Given the description of an element on the screen output the (x, y) to click on. 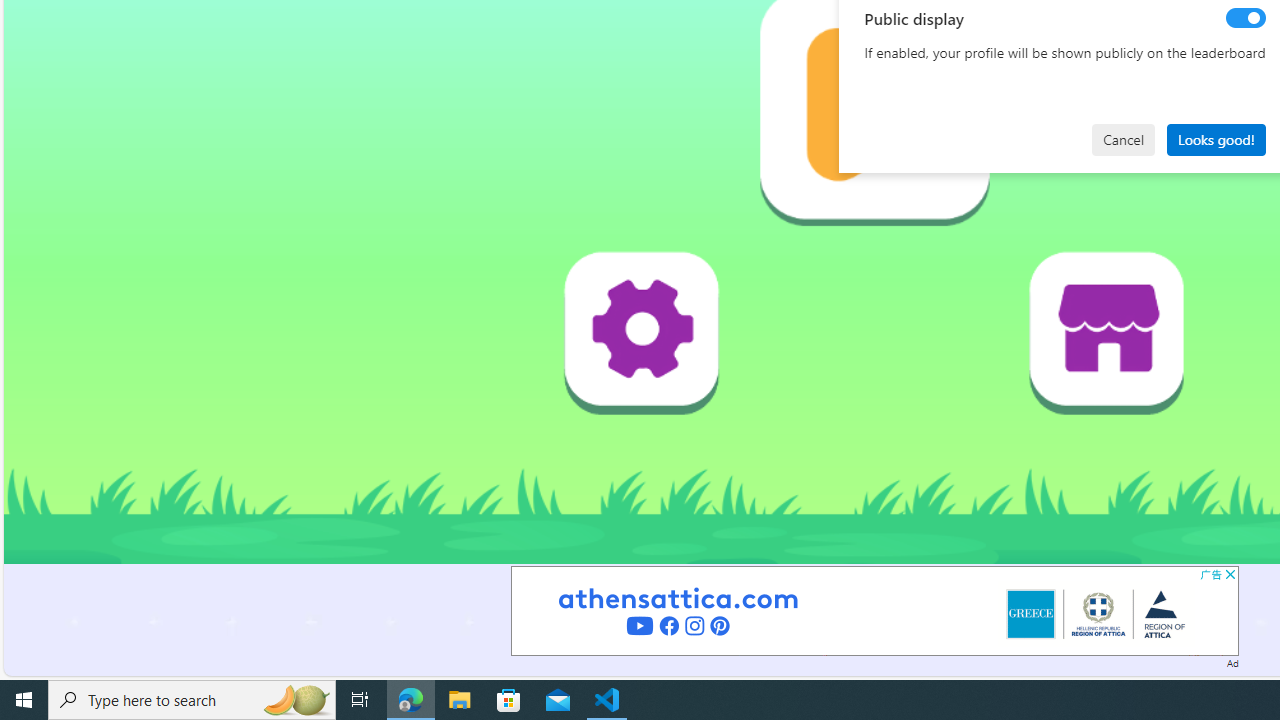
Advertisement (874, 610)
Advertisement (874, 610)
AutomationID: cbb (1229, 574)
Cancel (1123, 139)
Looks good! (1216, 139)
